Given the description of an element on the screen output the (x, y) to click on. 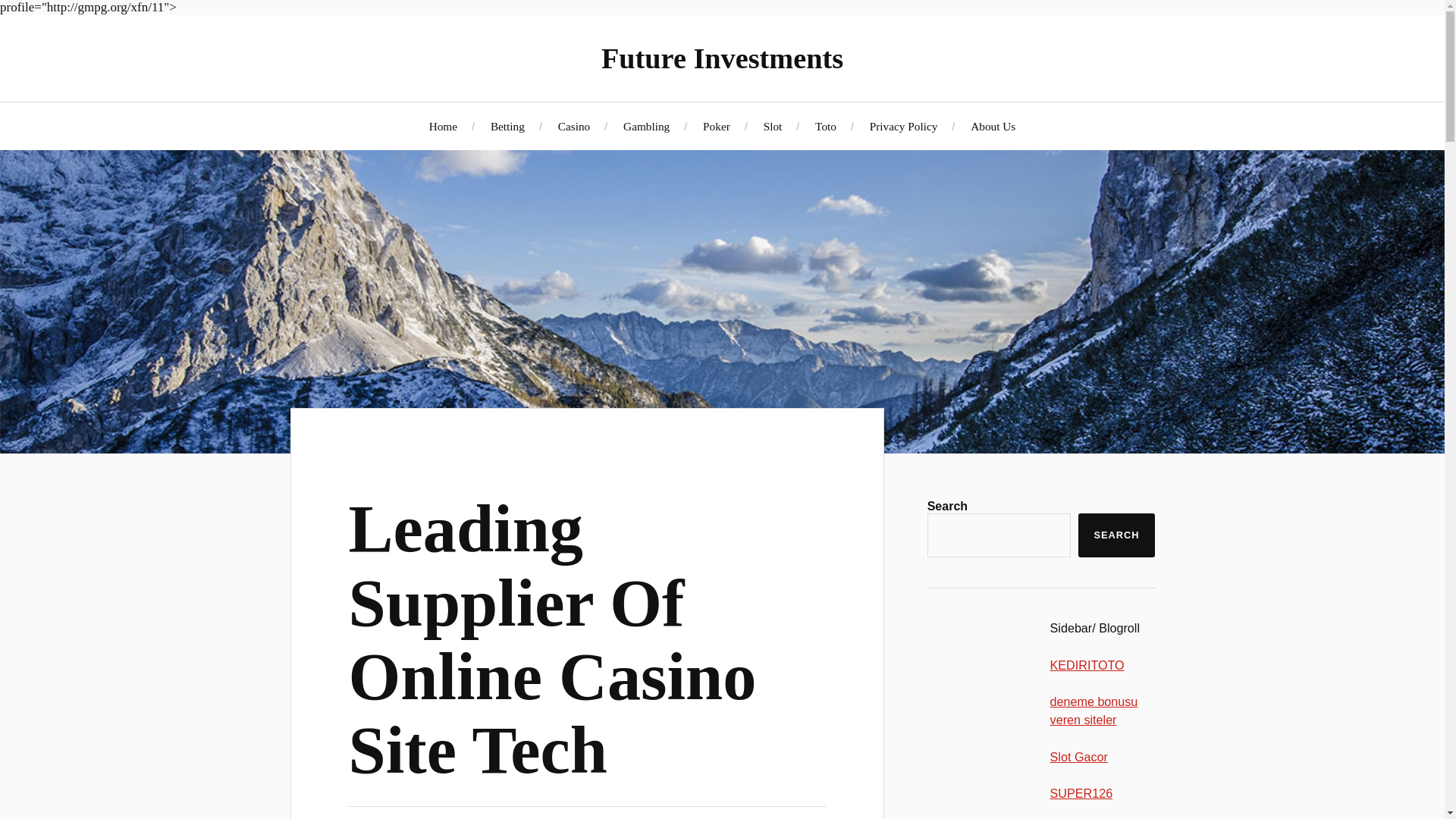
KEDIRITOTO (1086, 664)
Future Investments (722, 58)
Gambling (646, 125)
deneme bonusu veren siteler (1093, 710)
SUPER126 (1081, 793)
About Us (992, 125)
Privacy Policy (903, 125)
SEARCH (1116, 535)
Slot Gacor (1078, 756)
